Given the description of an element on the screen output the (x, y) to click on. 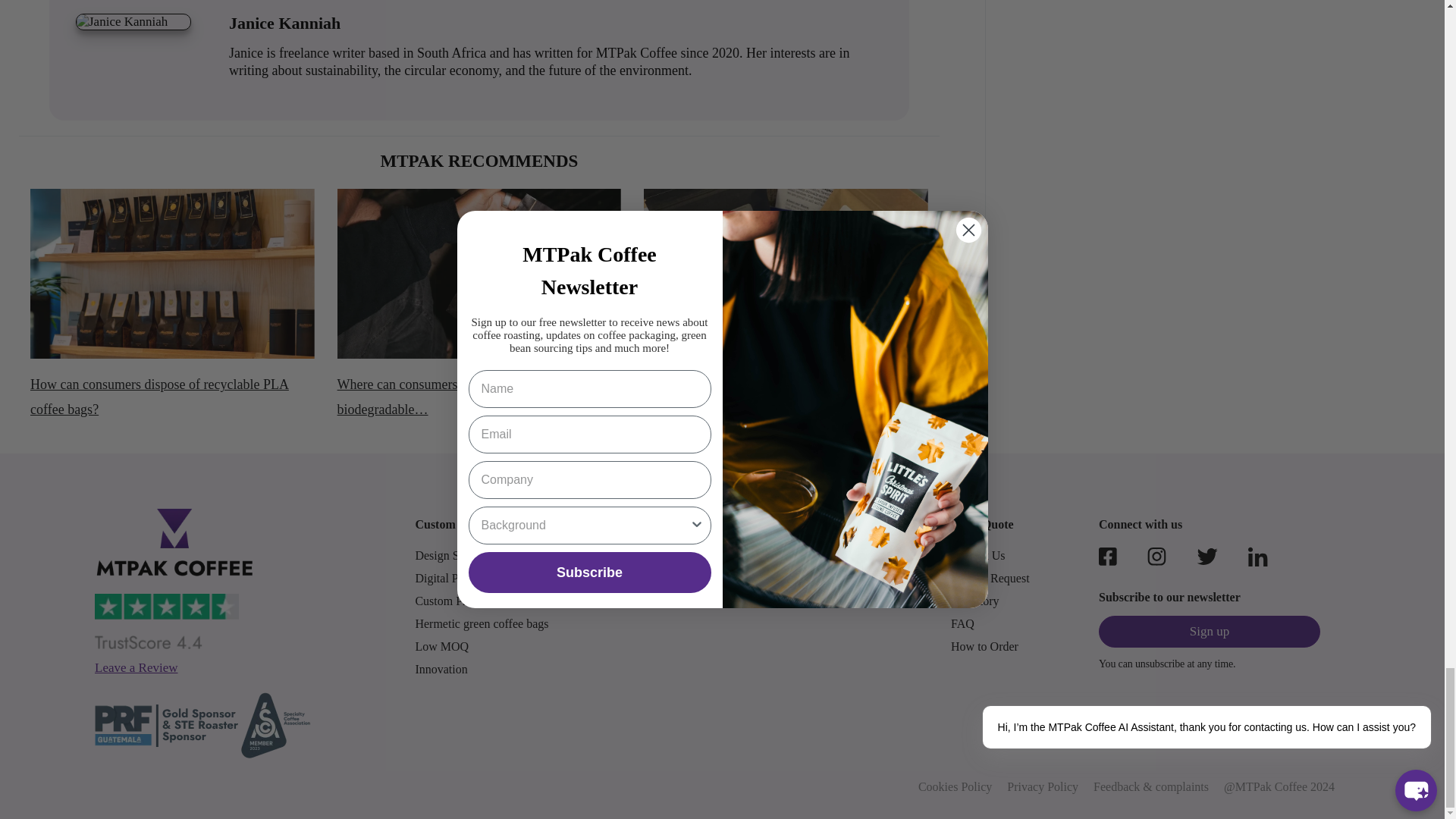
How to dispose of kraft paper tin tie coffee bags (785, 274)
How can consumers dispose of recyclable PLA coffee bags? (172, 274)
